Given the description of an element on the screen output the (x, y) to click on. 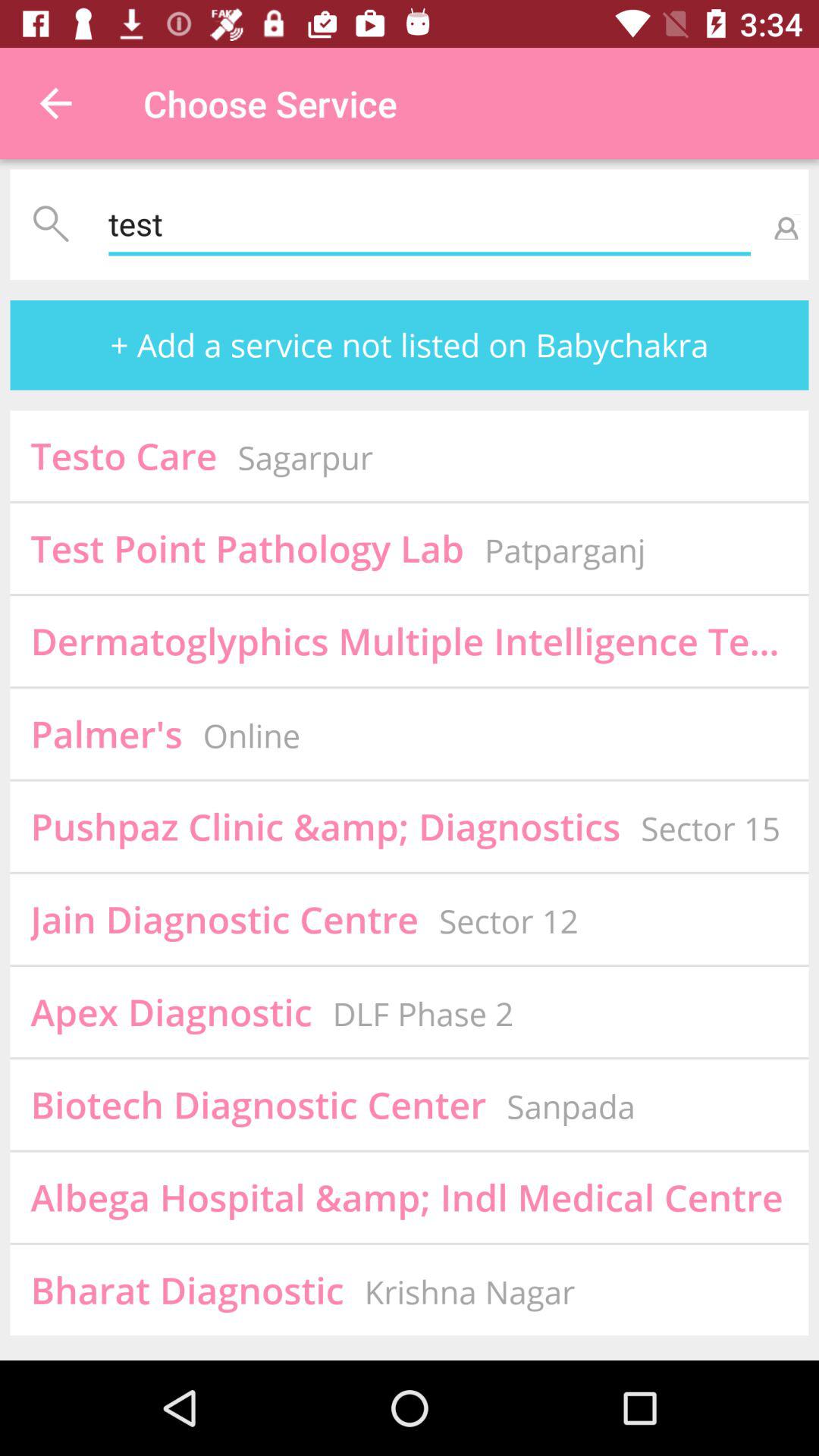
flip to the sector 15 (710, 827)
